Given the description of an element on the screen output the (x, y) to click on. 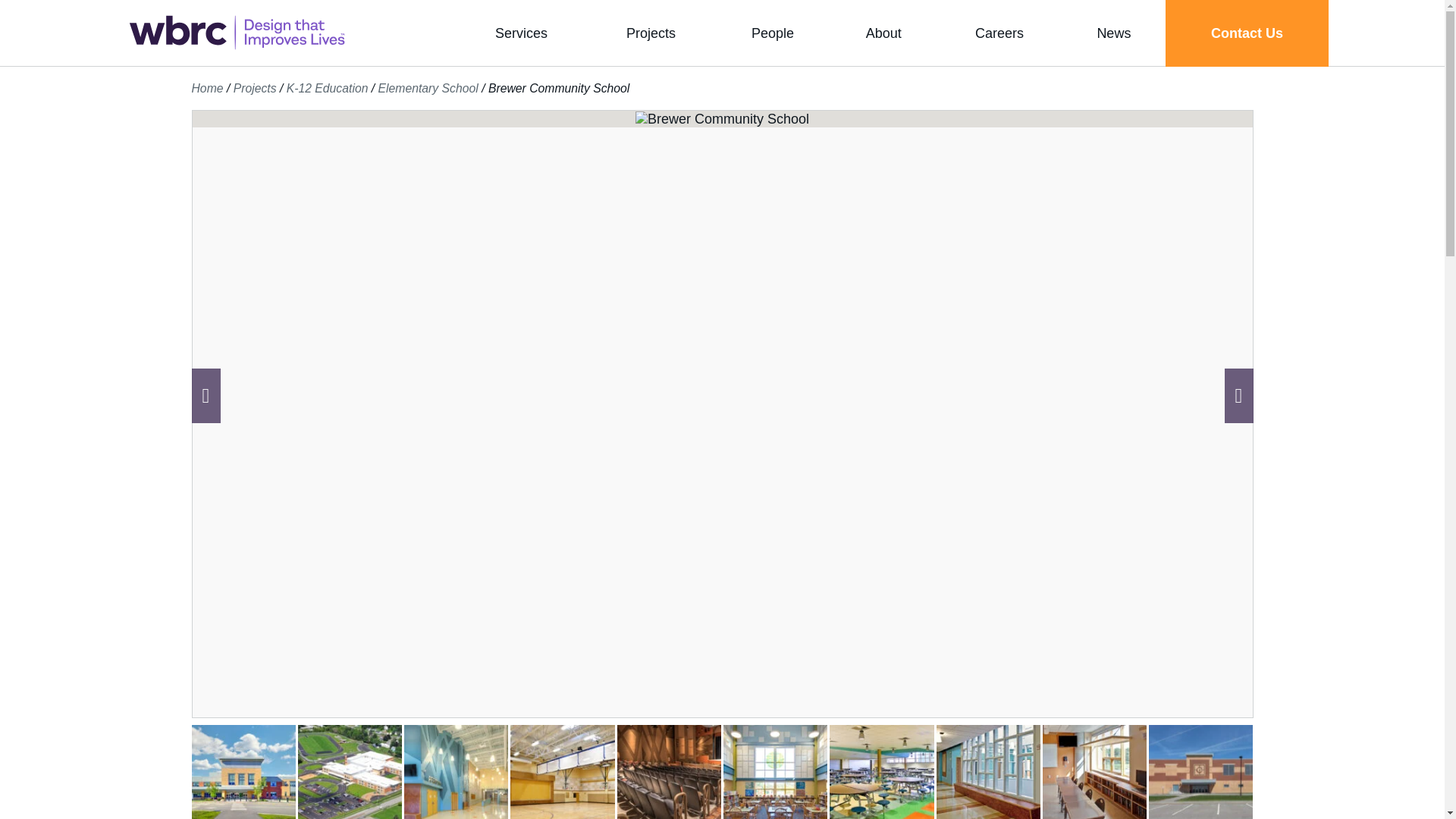
People (771, 33)
Services (520, 33)
Services (520, 33)
Projects (651, 33)
Projects (651, 33)
About (883, 33)
WBRC Inc. (236, 33)
